Given the description of an element on the screen output the (x, y) to click on. 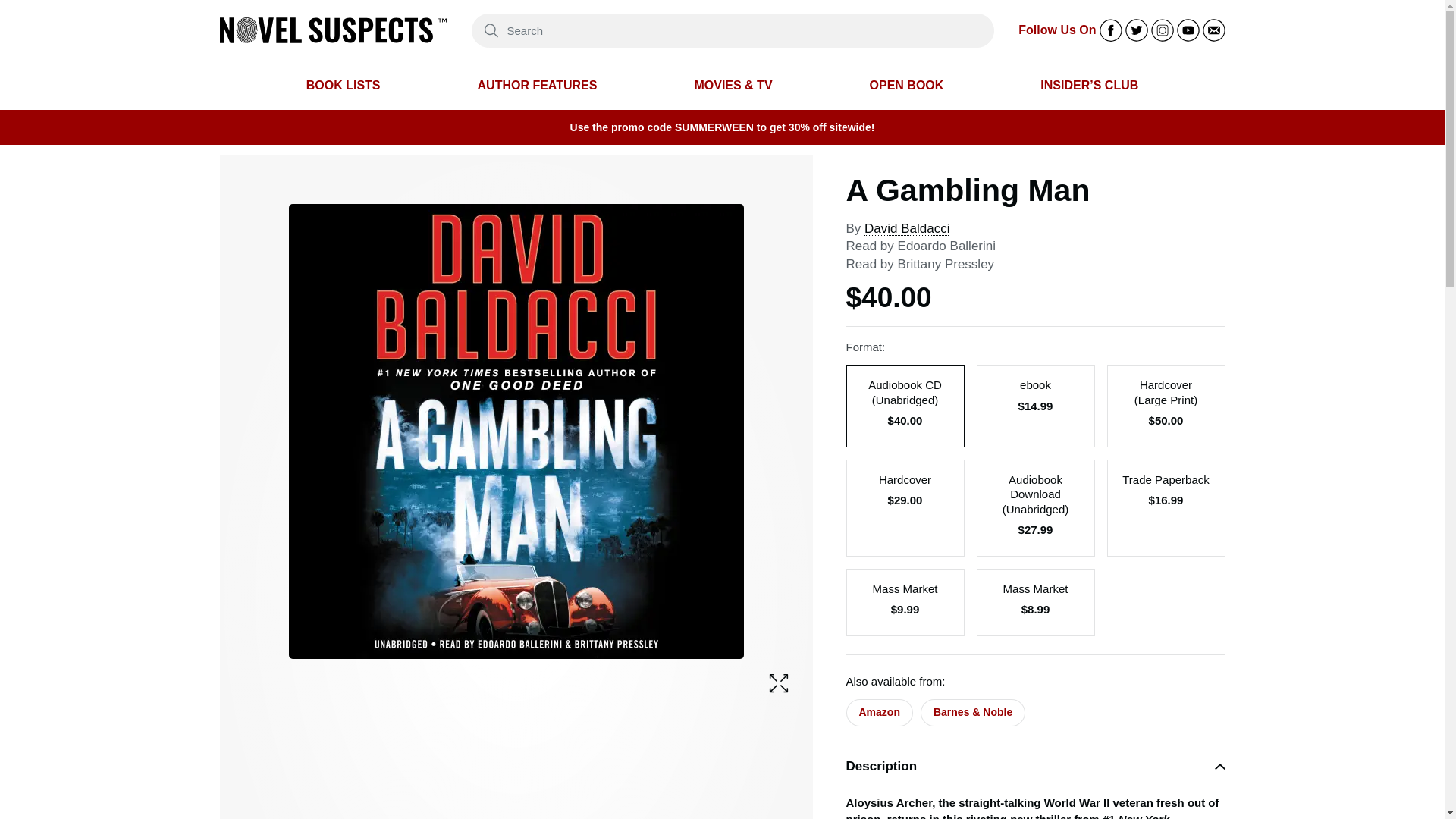
AUTHOR FEATURES (536, 85)
BOOK LISTS (342, 85)
Amazon (878, 712)
Open the full-size image (778, 683)
Go to Hachette Book Group home (332, 30)
OPEN BOOK (906, 85)
David Baldacci (906, 228)
